Given the description of an element on the screen output the (x, y) to click on. 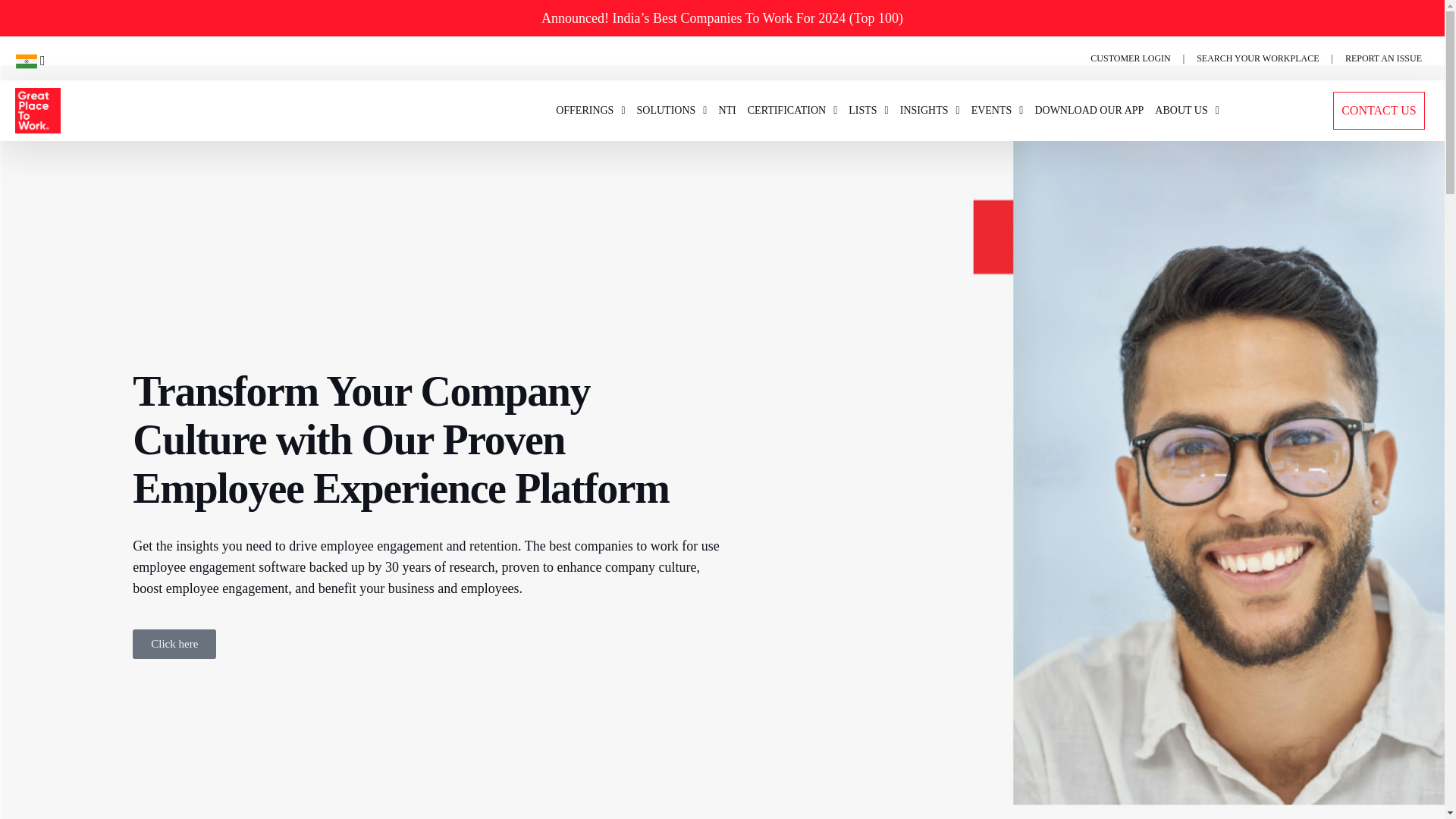
Go (13, 7)
CERTIFICATION (792, 110)
LISTS (867, 110)
REPORT AN ISSUE (1383, 57)
OFFERINGS (589, 110)
CUSTOMER LOGIN (1130, 57)
SEARCH YOUR WORKPLACE (1257, 57)
SOLUTIONS (672, 110)
NTI (726, 110)
